Given the description of an element on the screen output the (x, y) to click on. 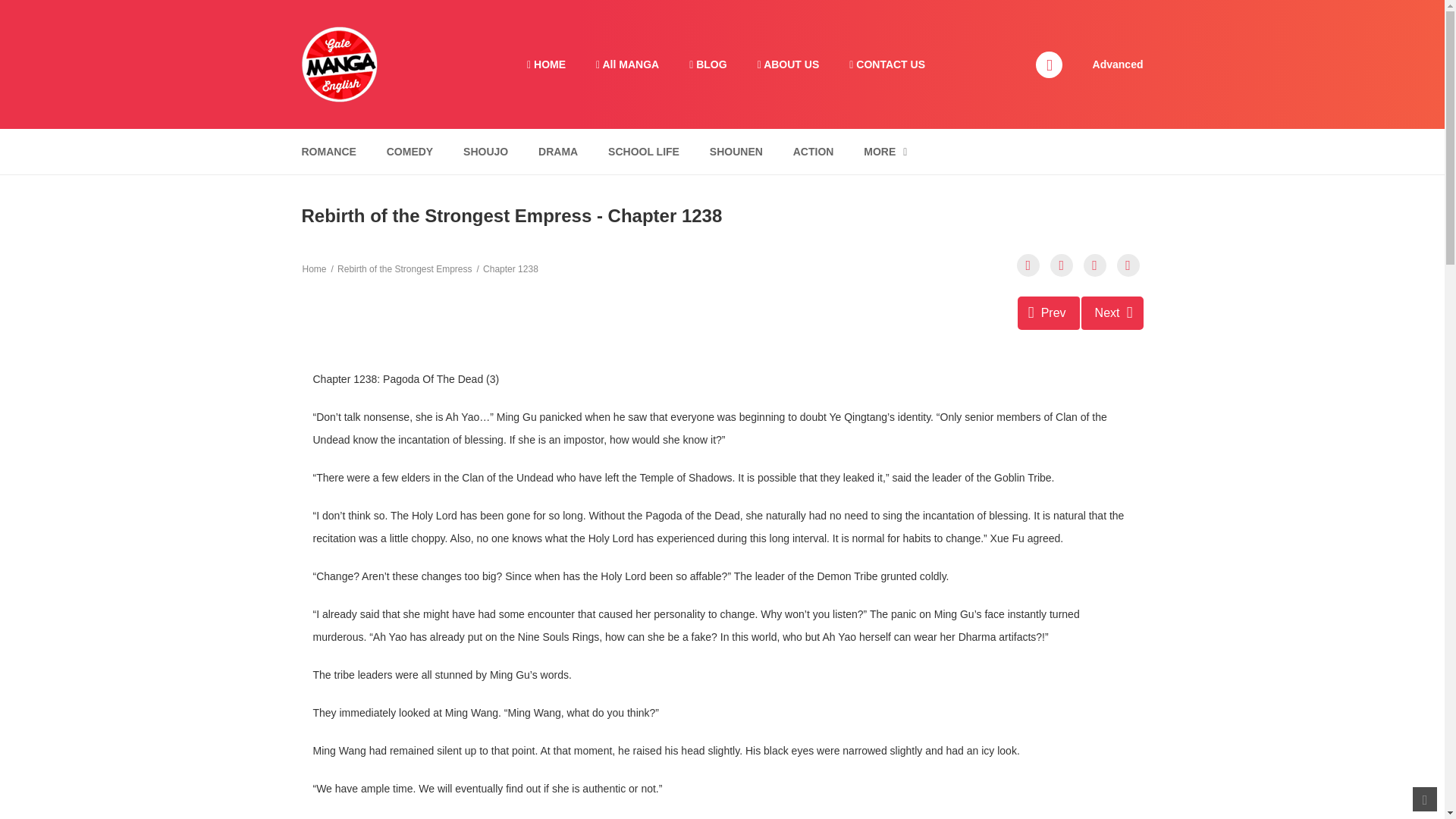
BLOG (707, 64)
SHOUJO (485, 151)
ACTION (813, 151)
SCHOOL LIFE (643, 151)
Gate Manga (1111, 313)
All MANGA (1048, 313)
MORE (339, 63)
ROMANCE (627, 64)
